Given the description of an element on the screen output the (x, y) to click on. 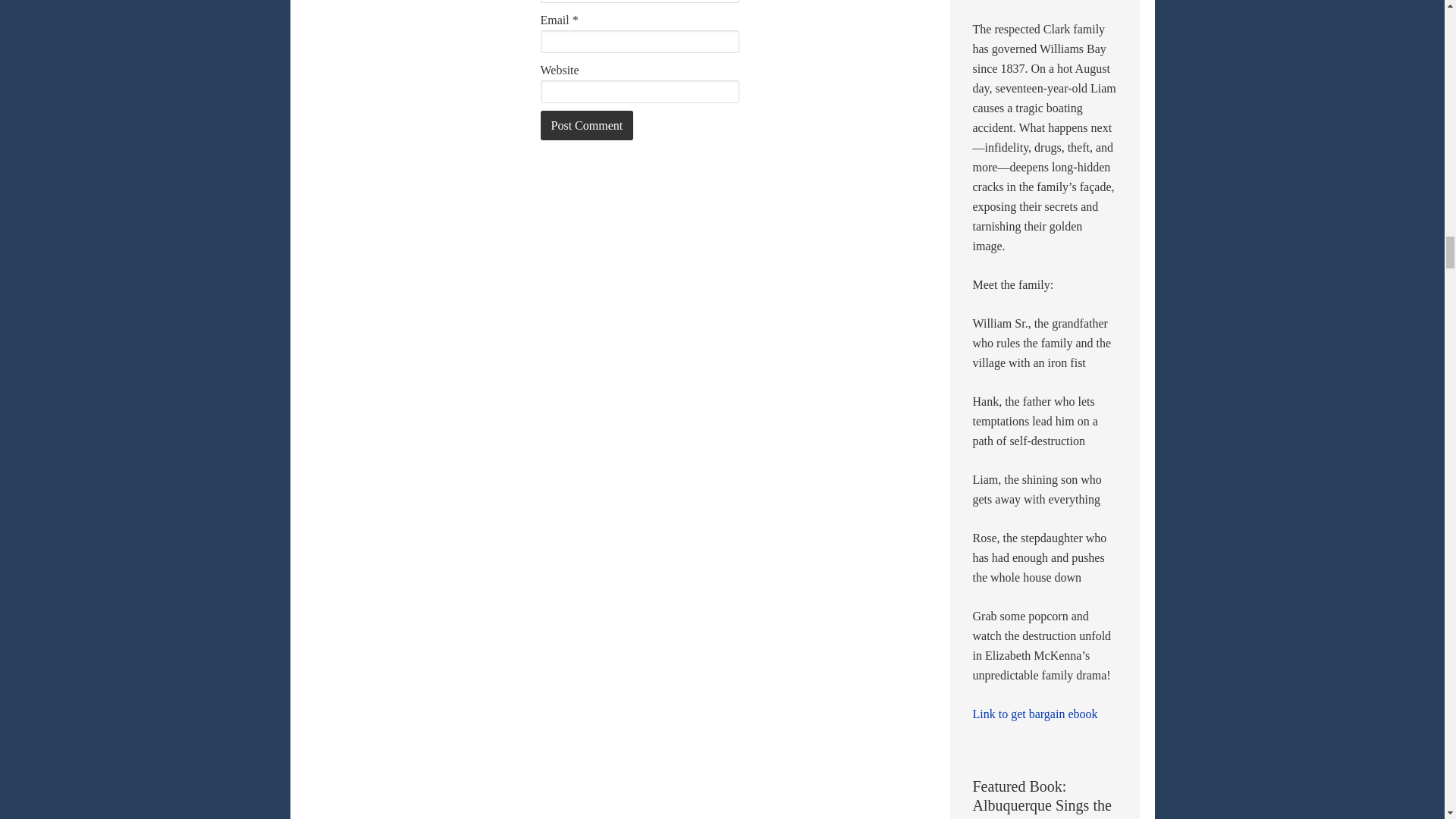
Post Comment (586, 125)
